Given the description of an element on the screen output the (x, y) to click on. 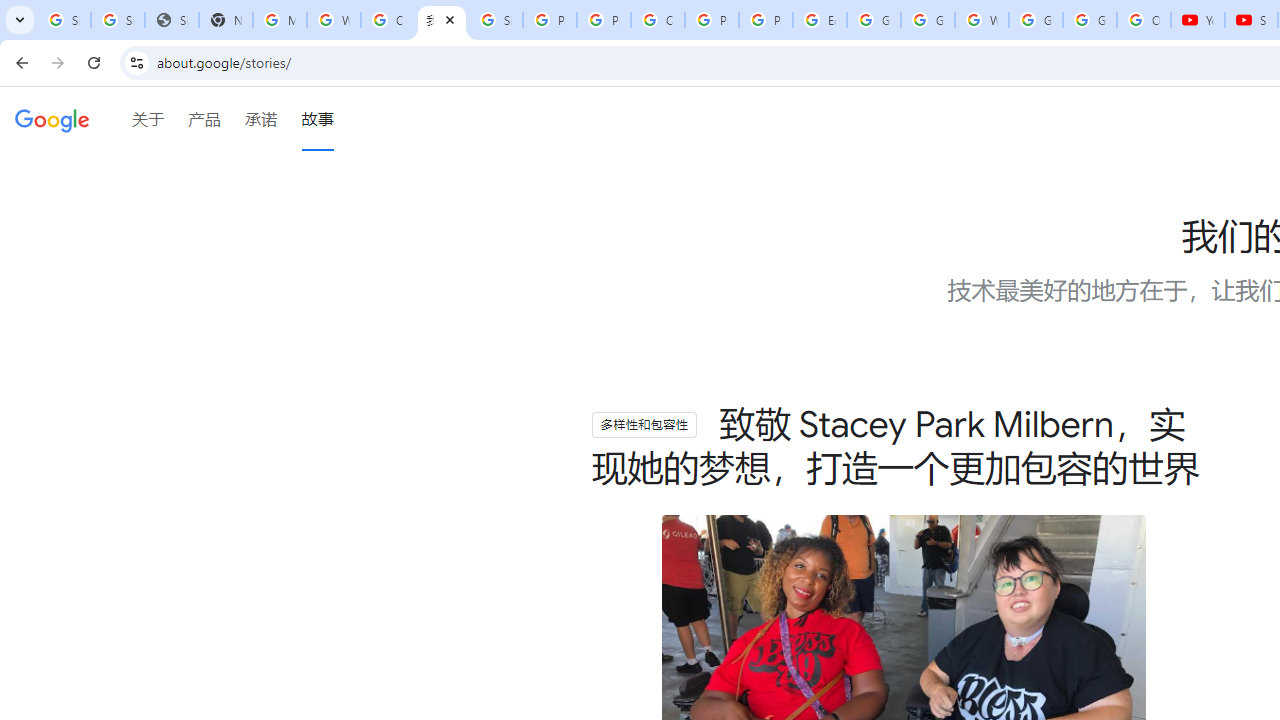
Google Slides: Sign-in (874, 20)
Who is my administrator? - Google Account Help (333, 20)
Create your Google Account (387, 20)
Sign in - Google Accounts (117, 20)
Welcome to My Activity (981, 20)
